Given the description of an element on the screen output the (x, y) to click on. 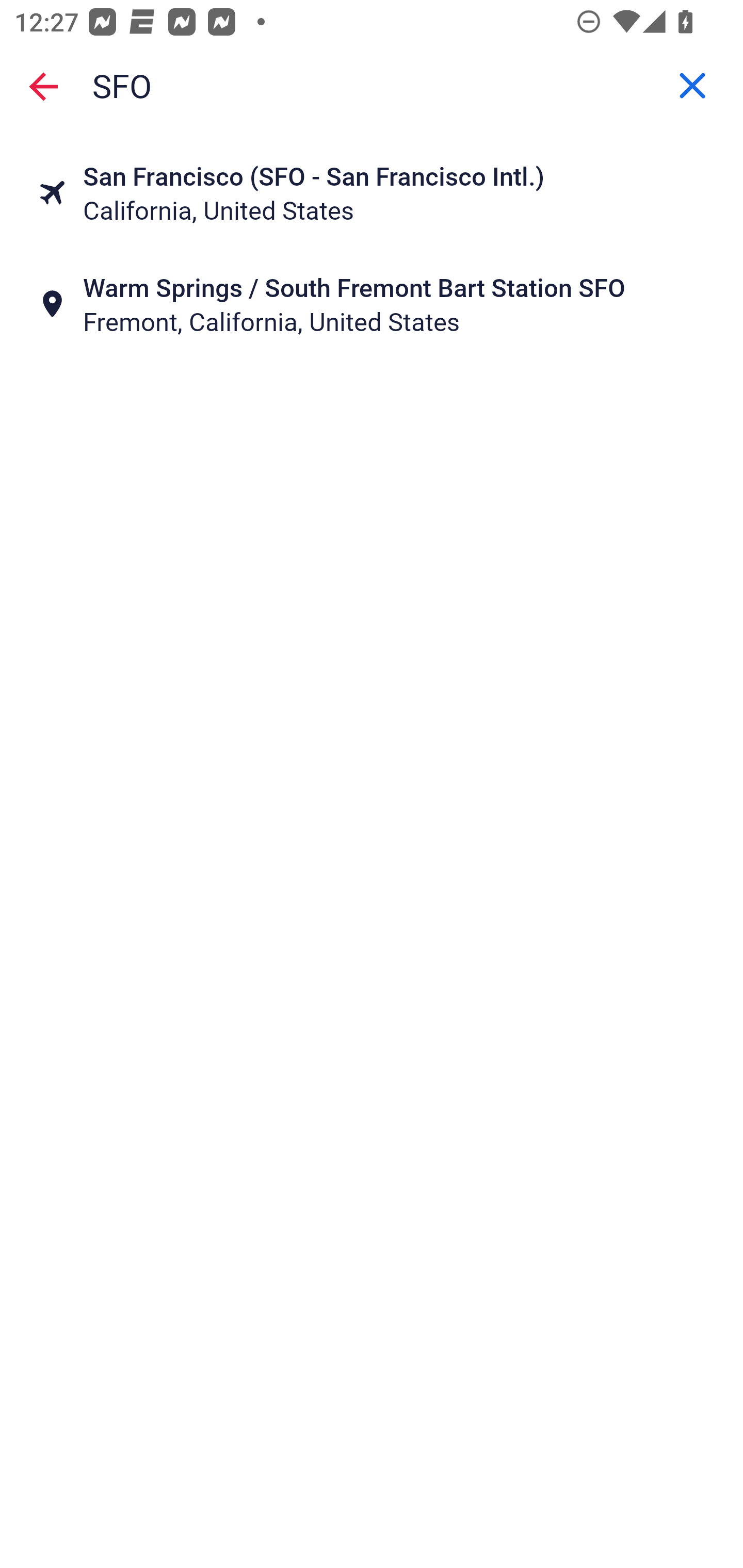
Clear Drop-off (692, 85)
Drop-off, SFO (371, 85)
Close search screen (43, 86)
